Given the description of an element on the screen output the (x, y) to click on. 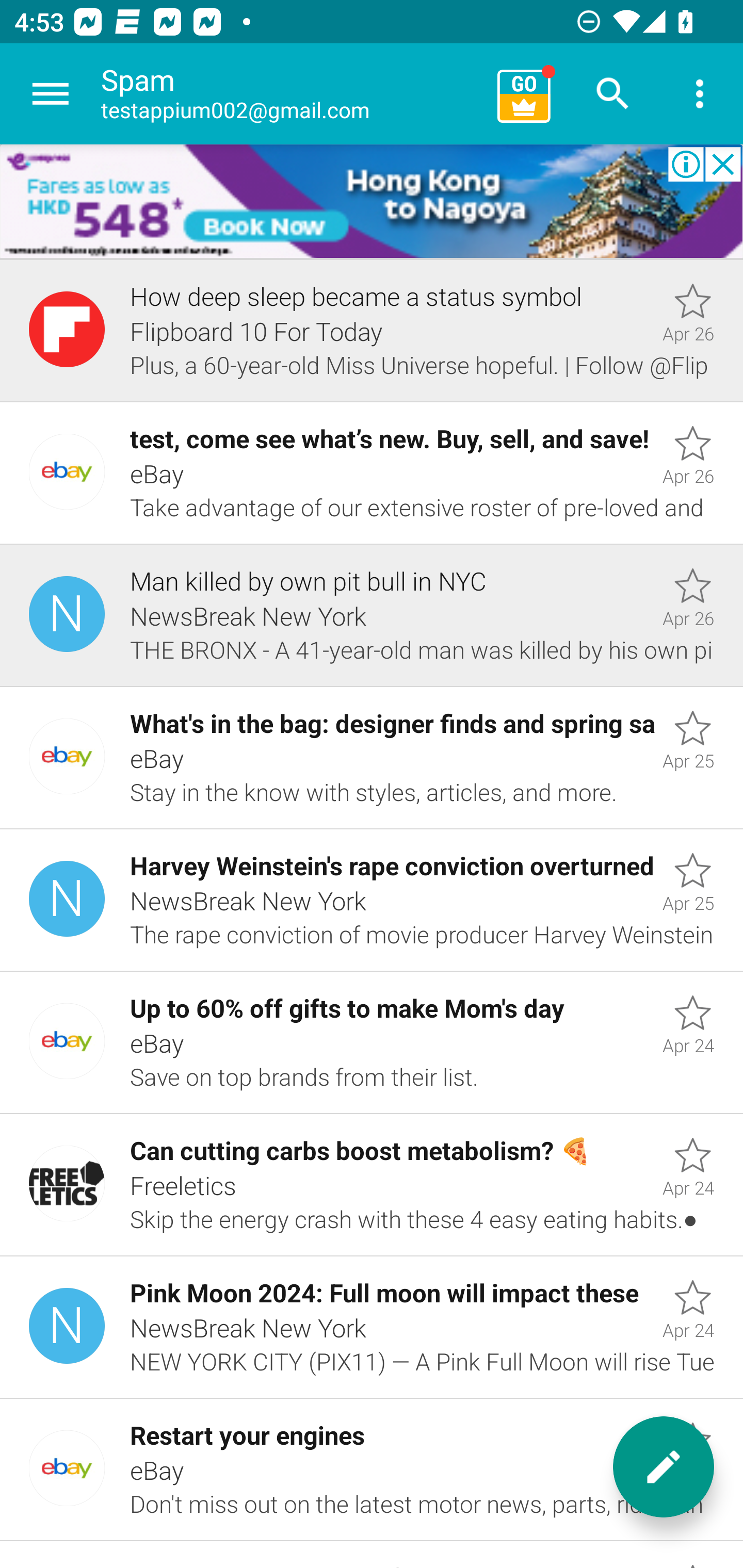
Navigate up (50, 93)
Spam testappium002@gmail.com (291, 93)
Search (612, 93)
More options (699, 93)
New message (663, 1466)
